Given the description of an element on the screen output the (x, y) to click on. 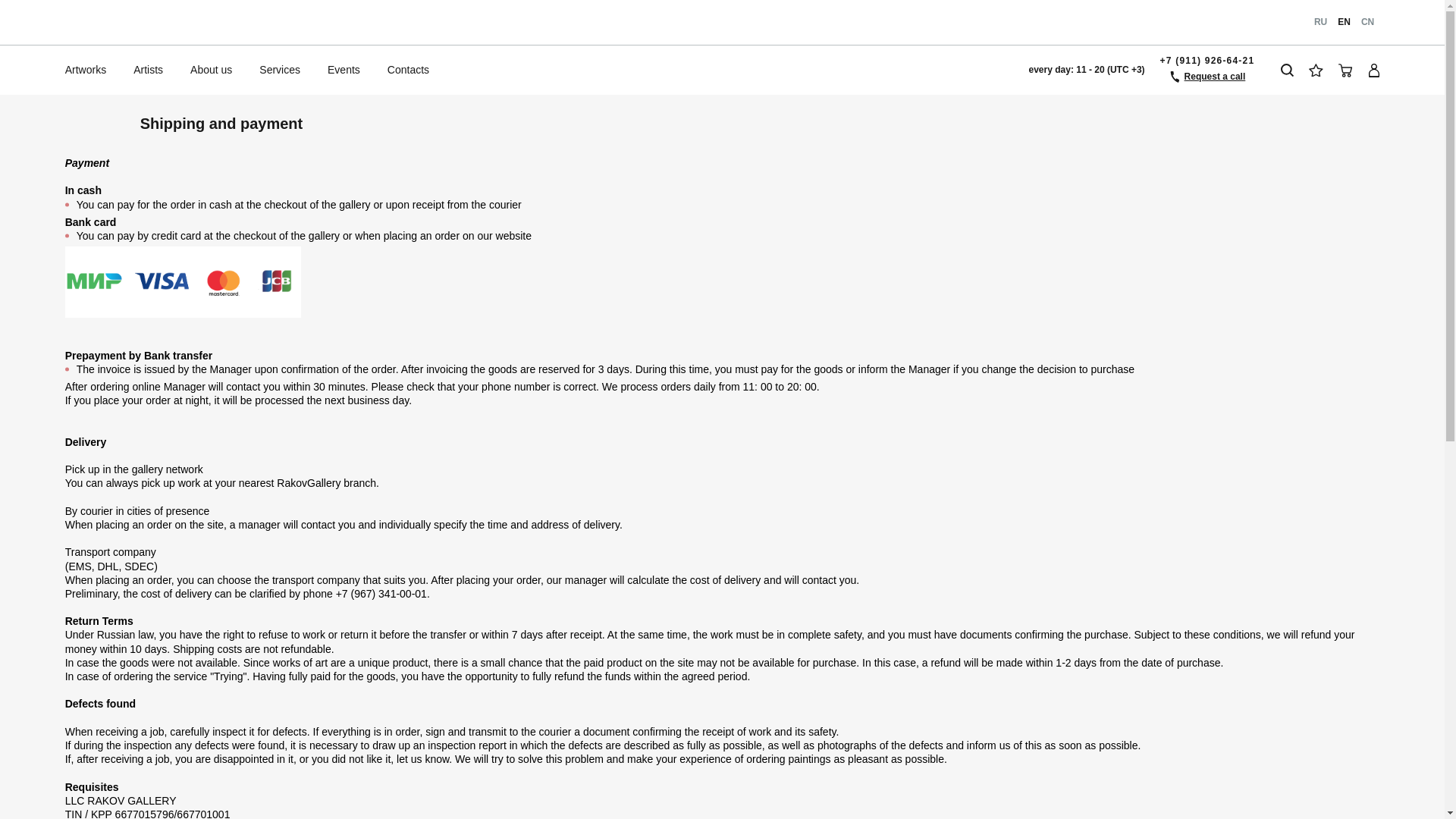
Events (344, 70)
Contacts (408, 70)
Request a call (1207, 80)
About us (211, 70)
Artworks (84, 70)
Artists (147, 70)
Services (280, 70)
